Given the description of an element on the screen output the (x, y) to click on. 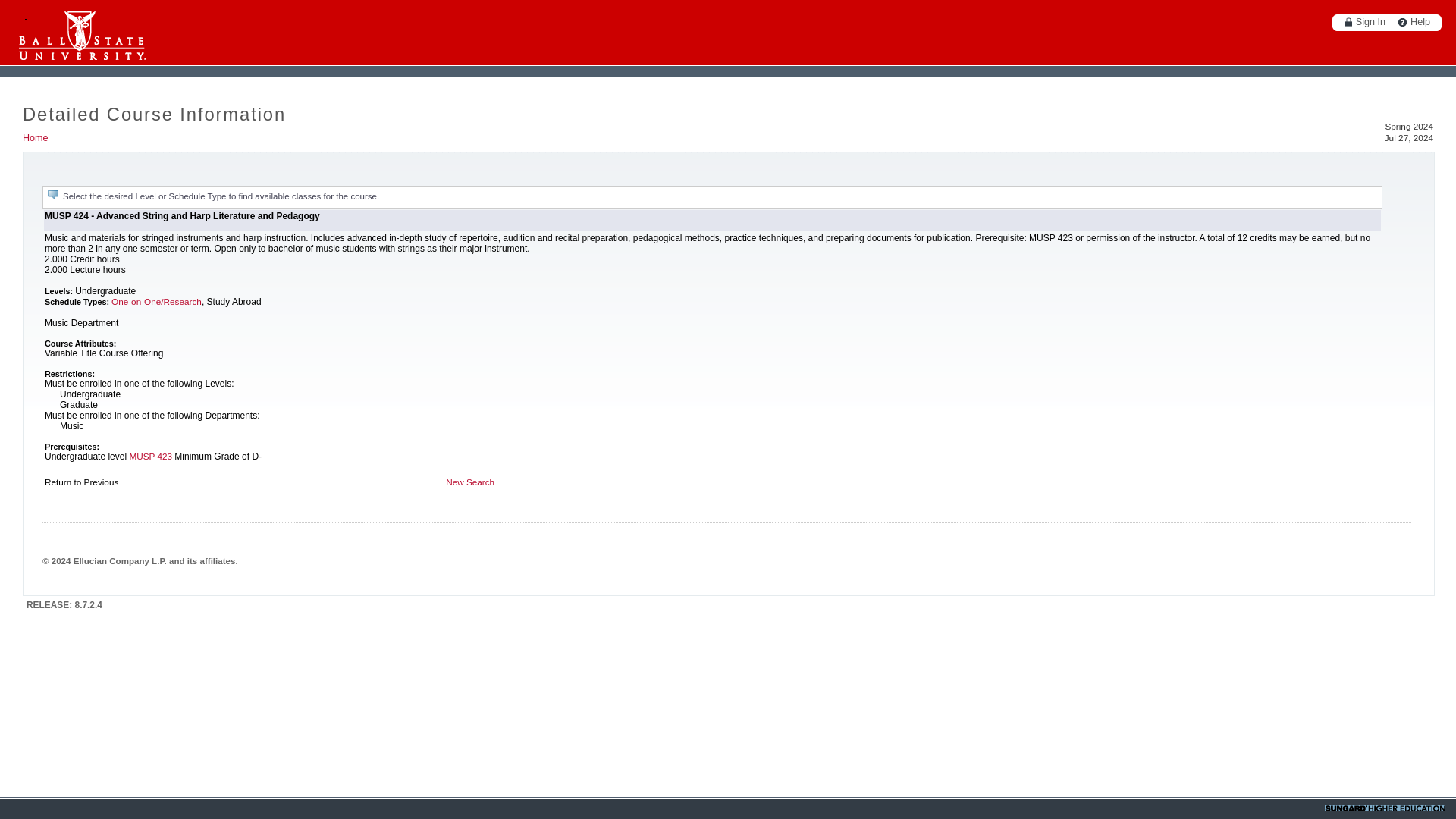
MUSP 423 (150, 456)
New Search (470, 481)
Information (53, 194)
Home (35, 137)
Return to Previous (81, 481)
Help (1410, 21)
Sign In (1362, 21)
